Given the description of an element on the screen output the (x, y) to click on. 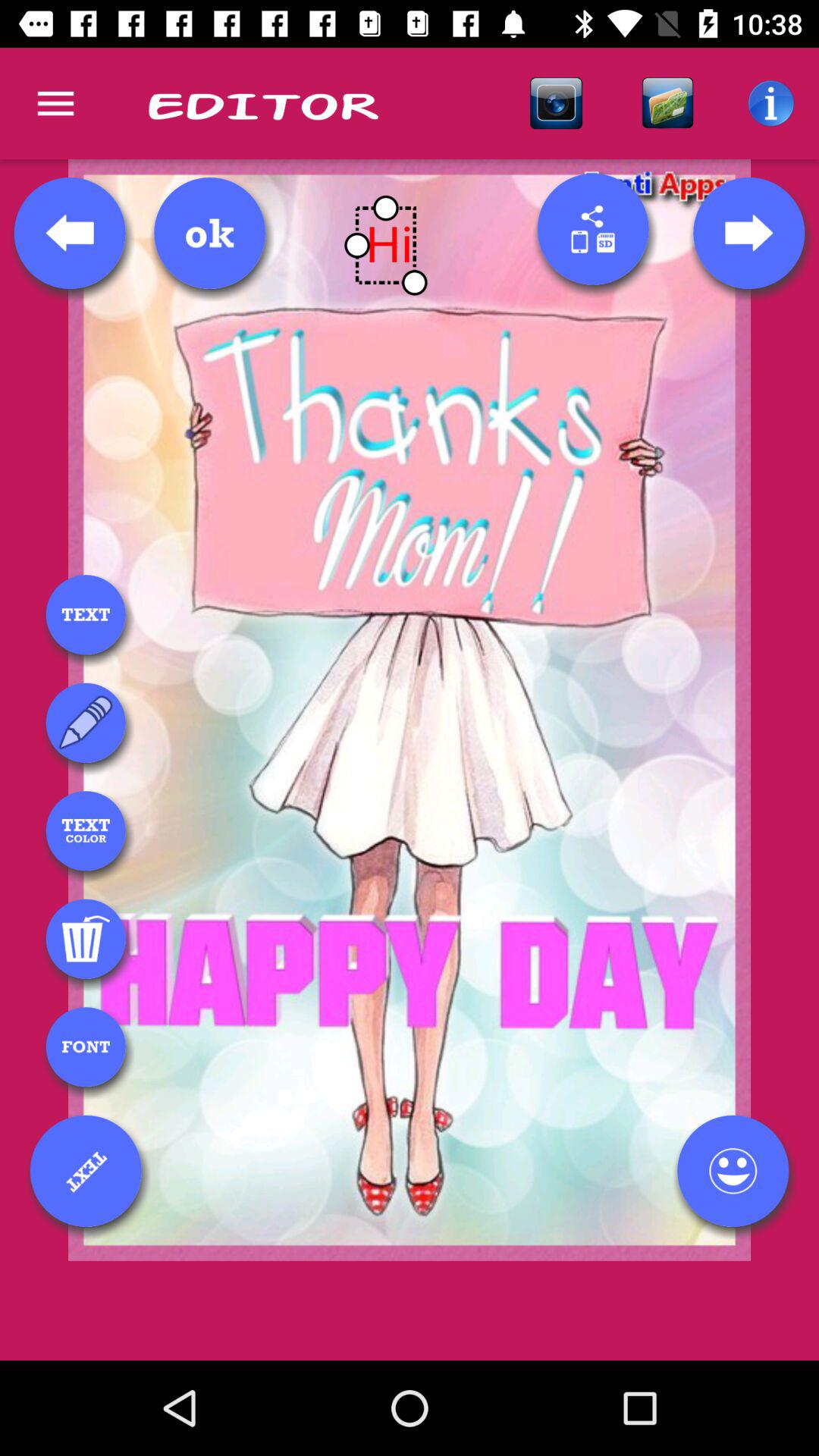
emoji (733, 1171)
